Given the description of an element on the screen output the (x, y) to click on. 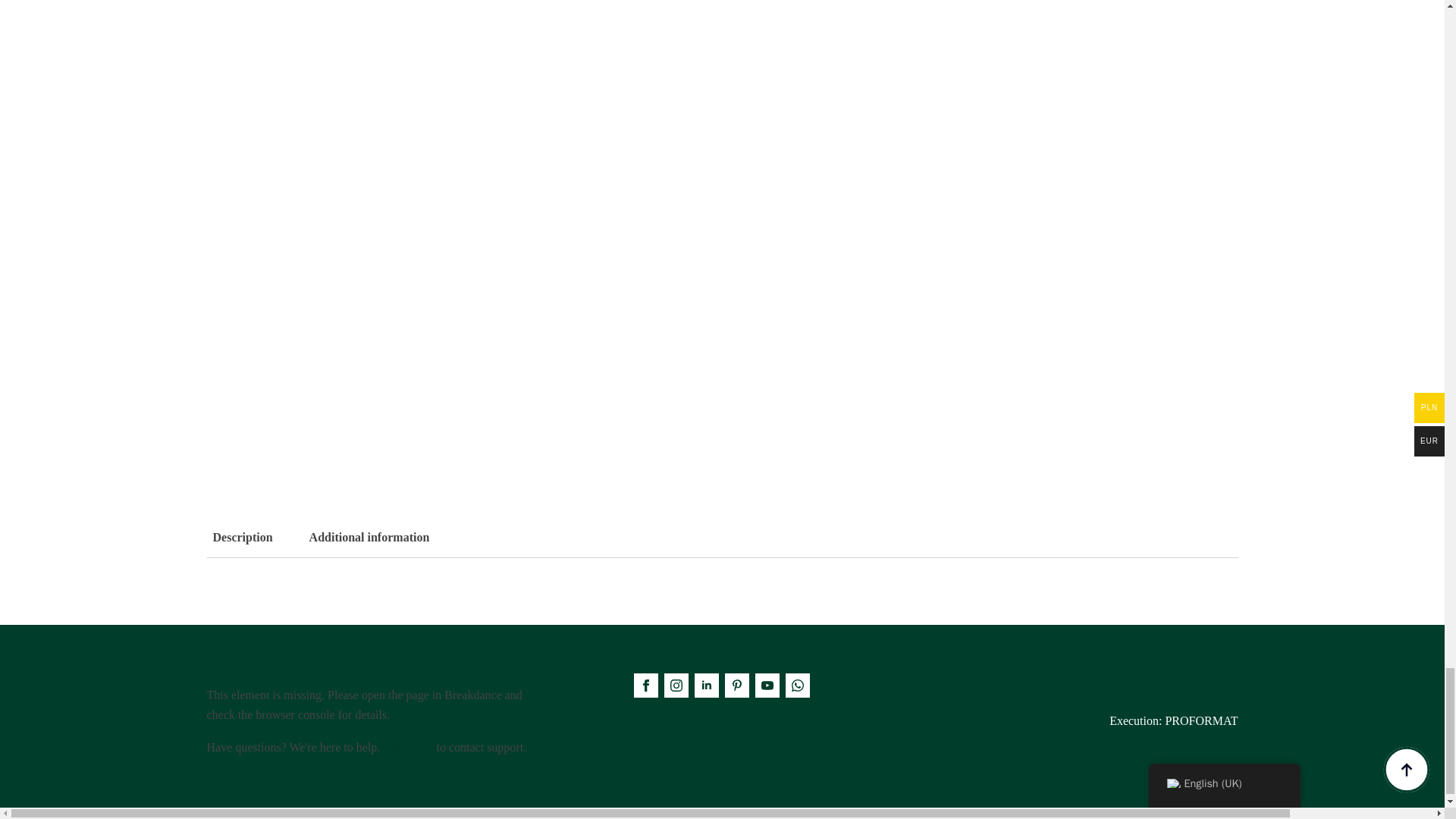
Description (242, 537)
Click here (721, 537)
Additional information (407, 747)
